Given the description of an element on the screen output the (x, y) to click on. 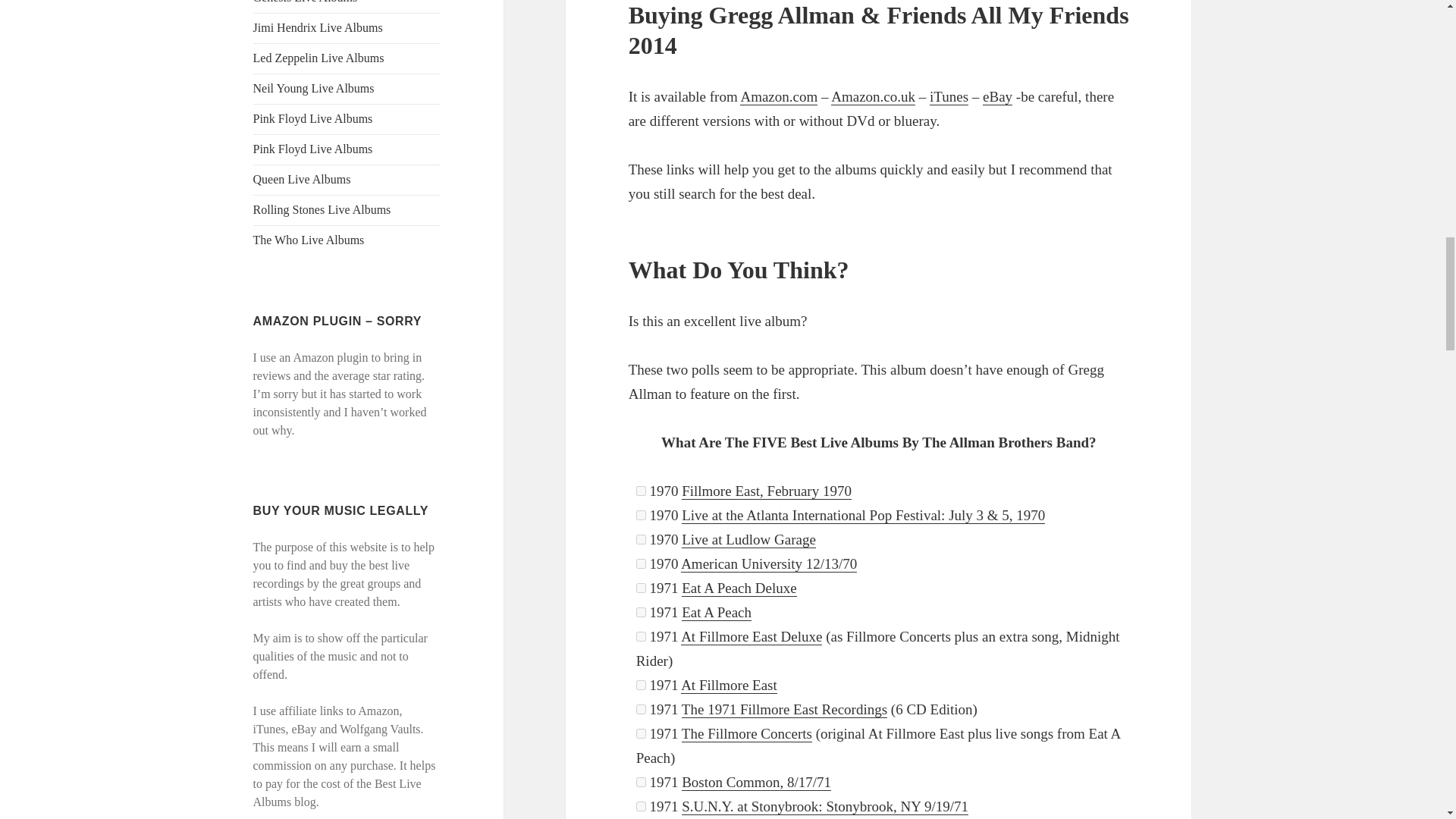
2162 (641, 733)
2151 (641, 539)
2155 (641, 806)
2152 (641, 491)
2144 (641, 685)
2160 (641, 587)
2163 (641, 636)
2145 (641, 612)
2154 (641, 515)
2161 (641, 709)
Genesis Live Albums (305, 2)
2153 (641, 563)
2158 (641, 782)
